Given the description of an element on the screen output the (x, y) to click on. 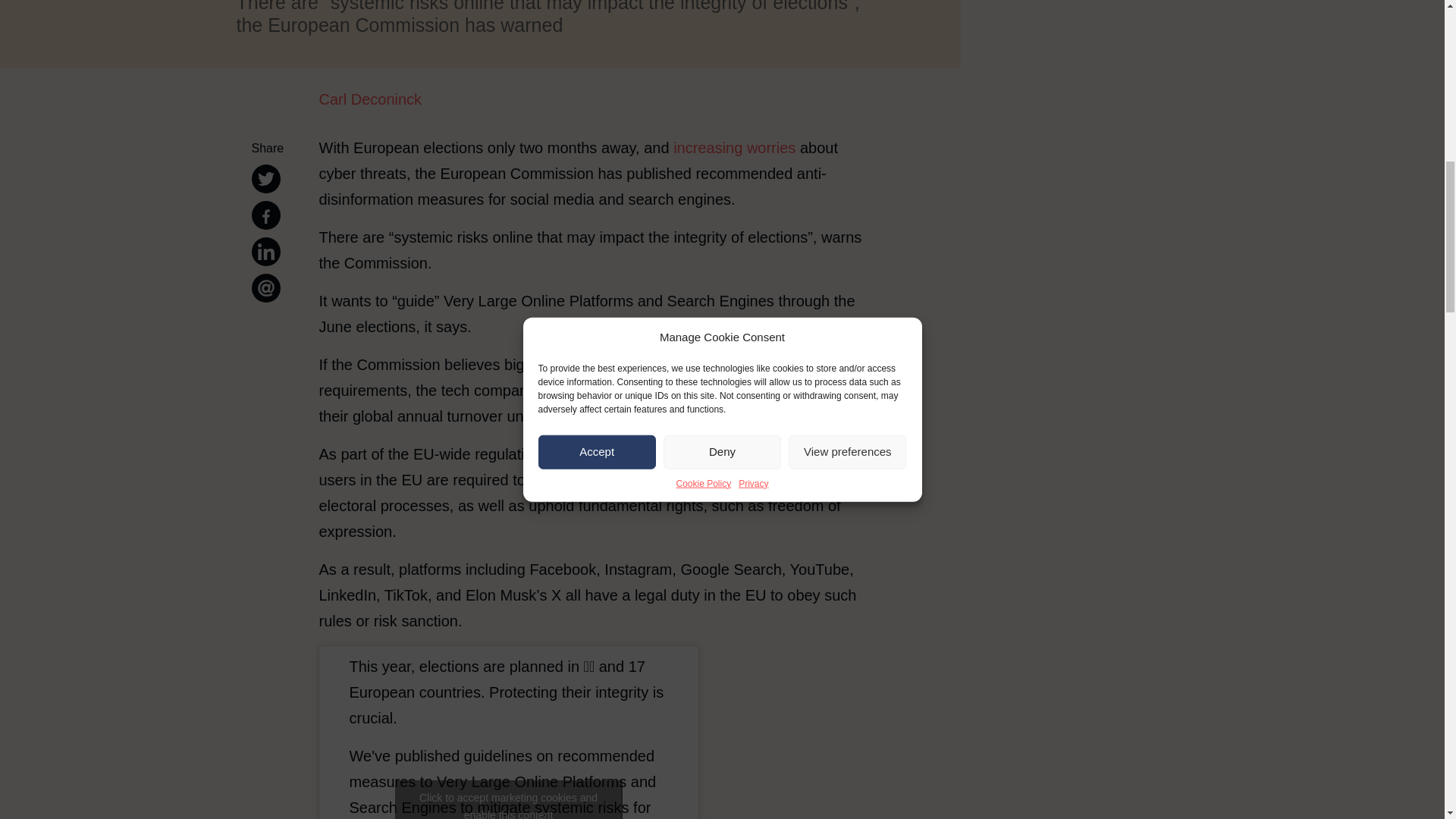
increasing worries (733, 147)
Carl Deconinck (597, 99)
Click to accept marketing cookies and enable this content (507, 799)
